Given the description of an element on the screen output the (x, y) to click on. 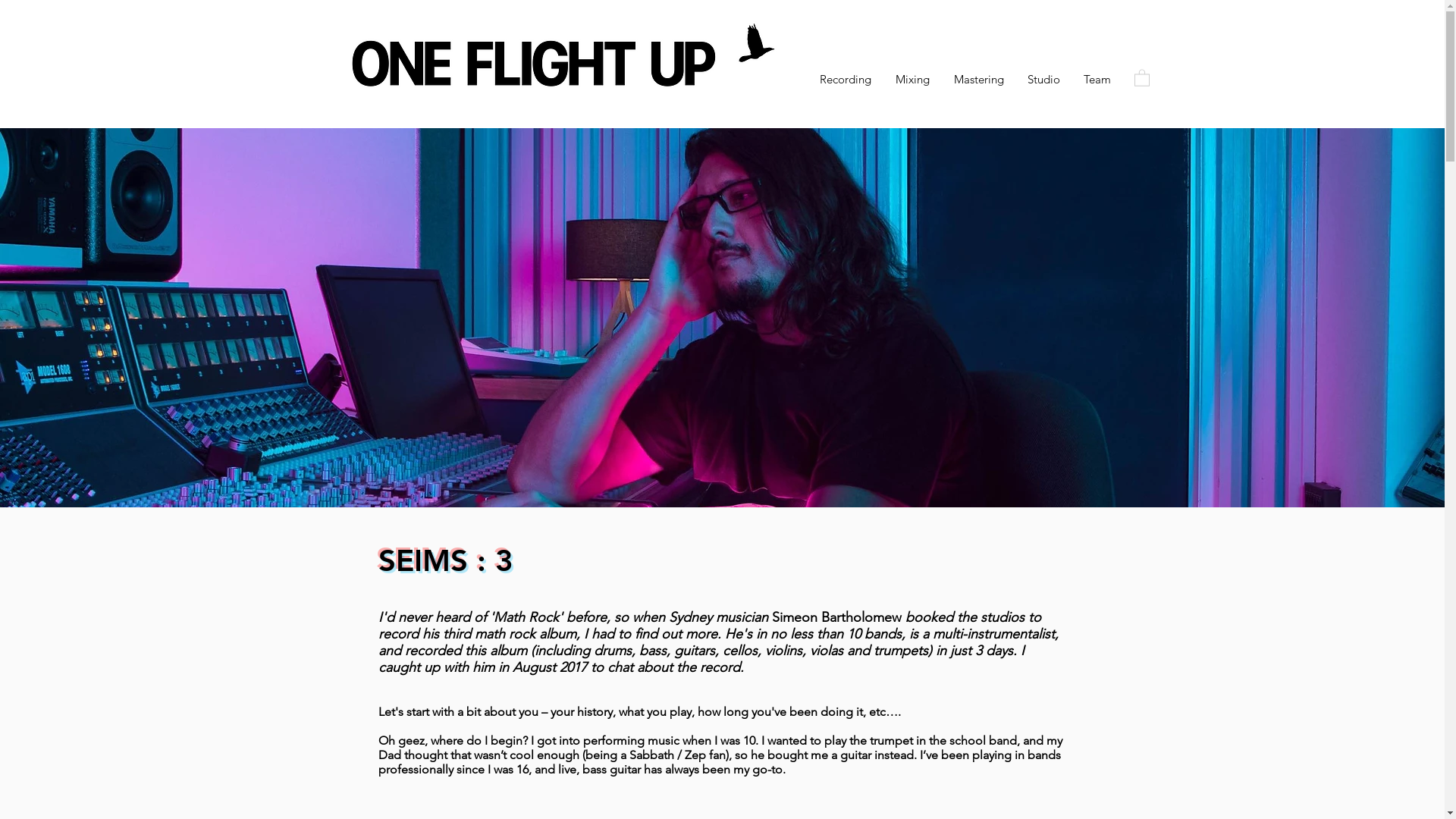
0 Element type: text (1141, 77)
Mastering Element type: text (978, 79)
Mixing Element type: text (911, 79)
Team Element type: text (1097, 79)
Studio Element type: text (1044, 79)
Recording Element type: text (844, 79)
